Given the description of an element on the screen output the (x, y) to click on. 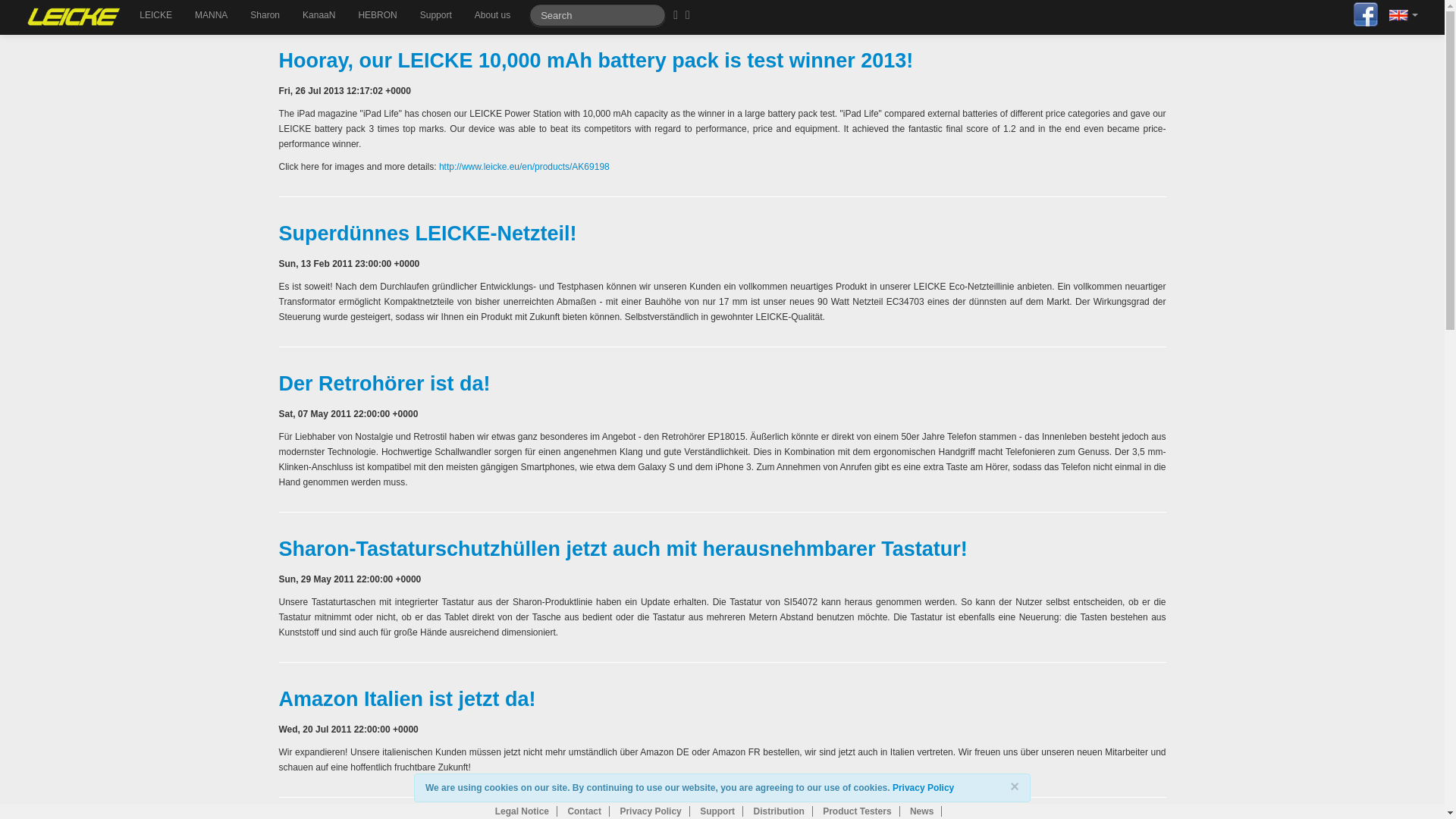
Amazon Italien ist jetzt da! (407, 698)
KanaaN (318, 15)
HEBRON (376, 15)
LEICKE (155, 15)
About us (492, 15)
Sharon (264, 15)
MANNA (210, 15)
English (1398, 15)
Facebook (1365, 13)
